Given the description of an element on the screen output the (x, y) to click on. 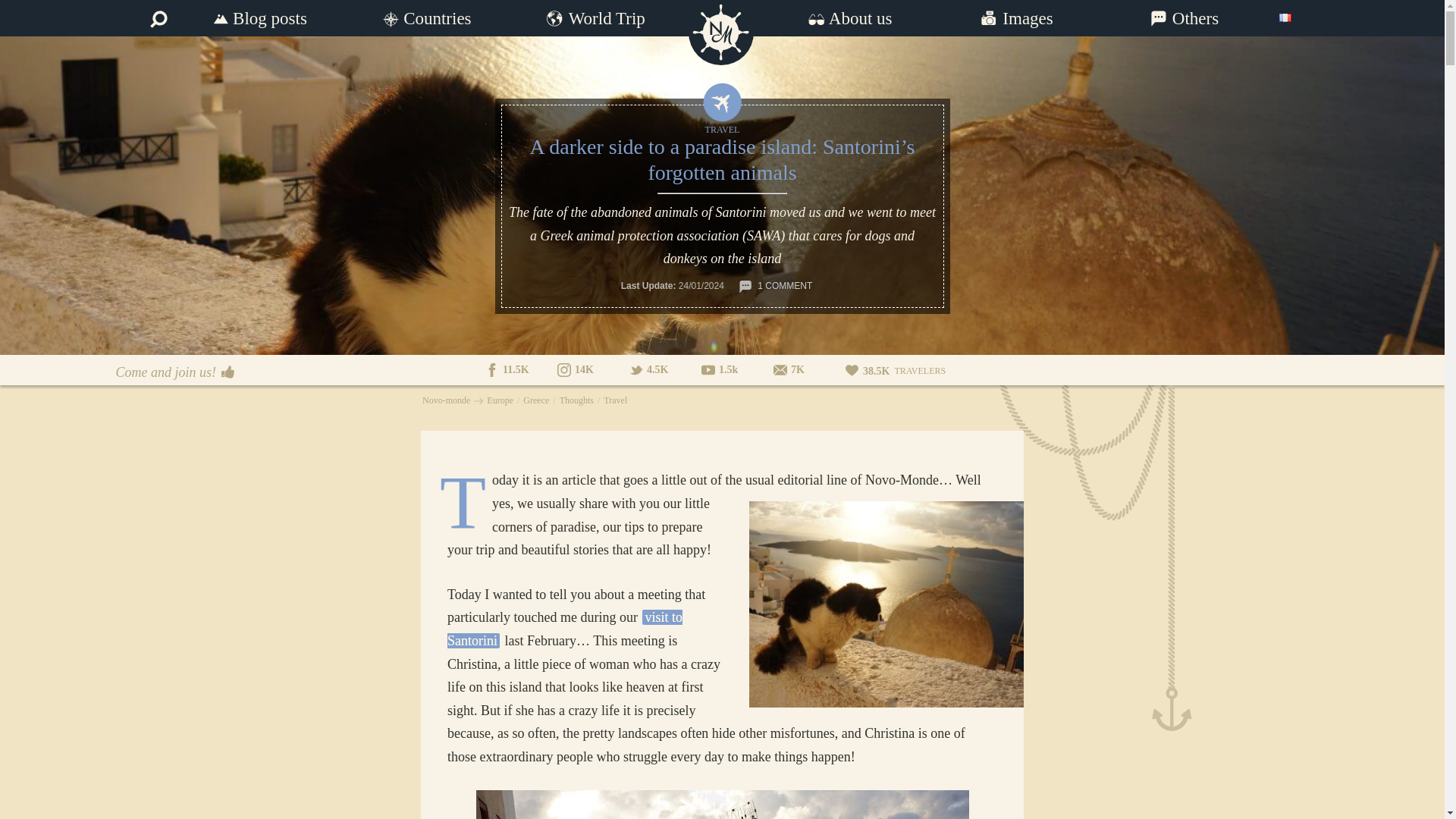
sur les toits de la ville (887, 604)
Countries (425, 18)
the countries we have visited (425, 18)
Our travel pictures and videos (1016, 18)
Blog posts (258, 18)
All our blog posts in categories (258, 18)
